Given the description of an element on the screen output the (x, y) to click on. 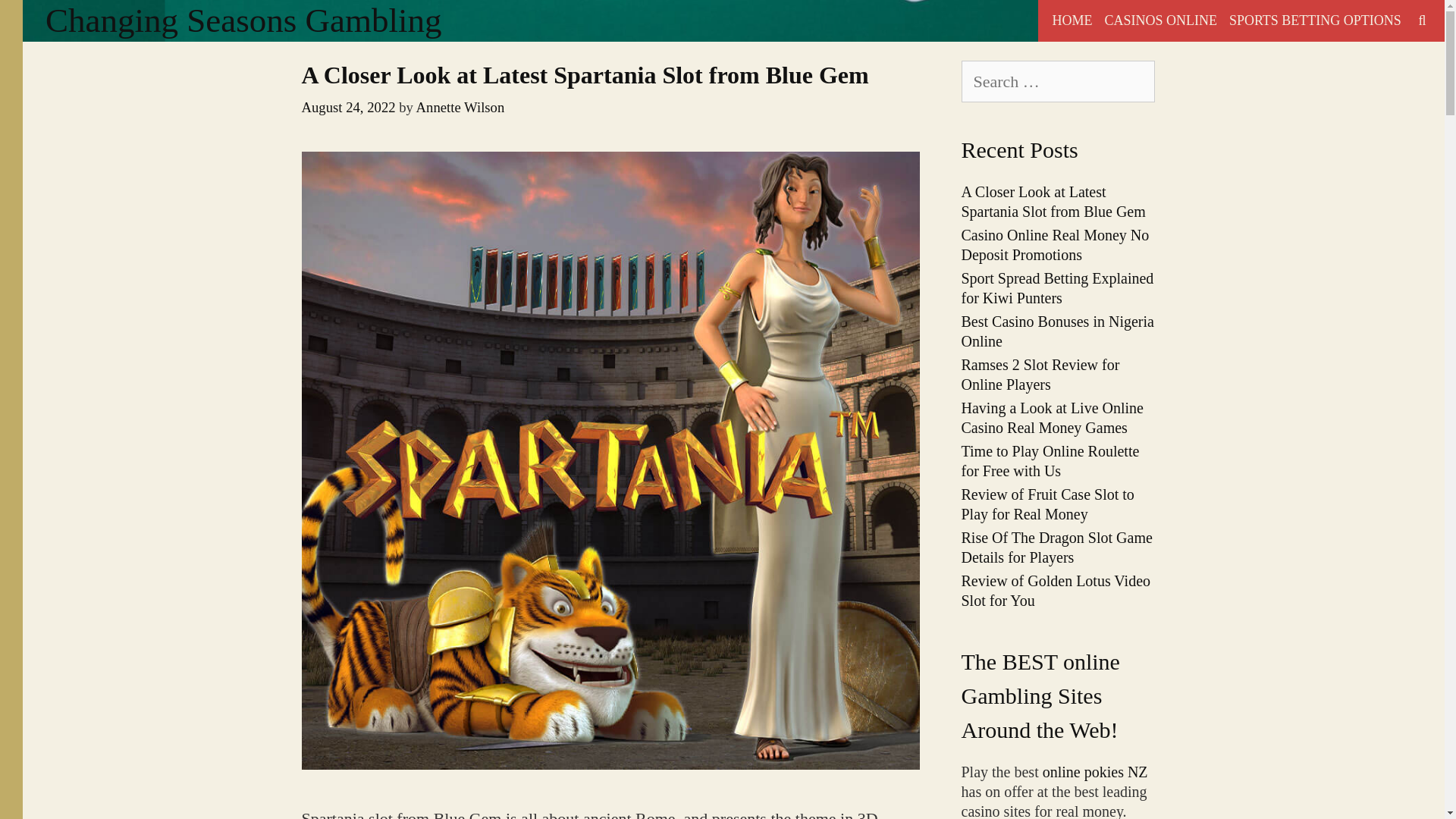
SPORTS BETTING OPTIONS (1315, 20)
CASINOS ONLINE (1160, 20)
August 24, 2022 (348, 107)
HOME (1071, 20)
A Closer Look at Latest Spartania Slot from Blue Gem (585, 74)
Search (203, 20)
Changing Seasons Gambling (243, 20)
View all posts by Annette Wilson (460, 107)
Annette Wilson (460, 107)
8:31 am (348, 107)
